Given the description of an element on the screen output the (x, y) to click on. 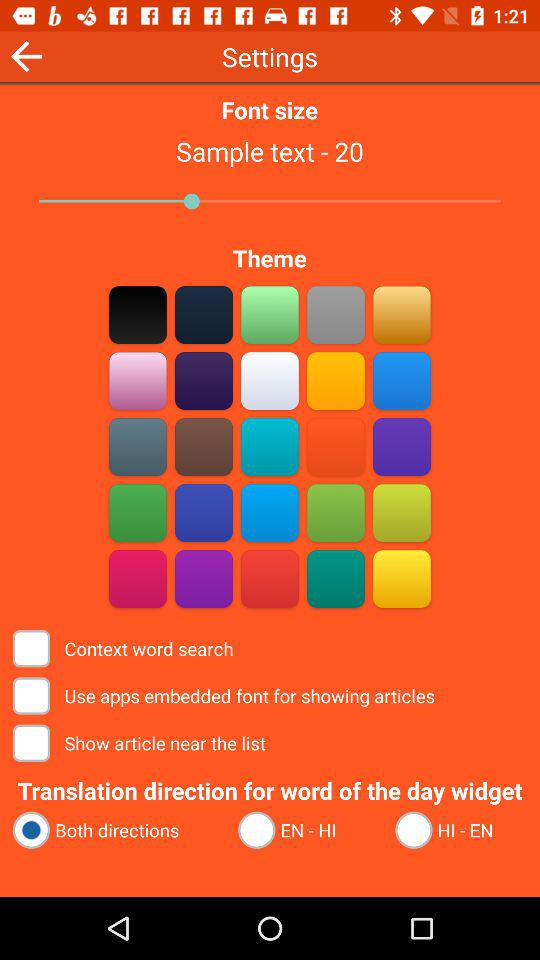
light brown (203, 380)
